Given the description of an element on the screen output the (x, y) to click on. 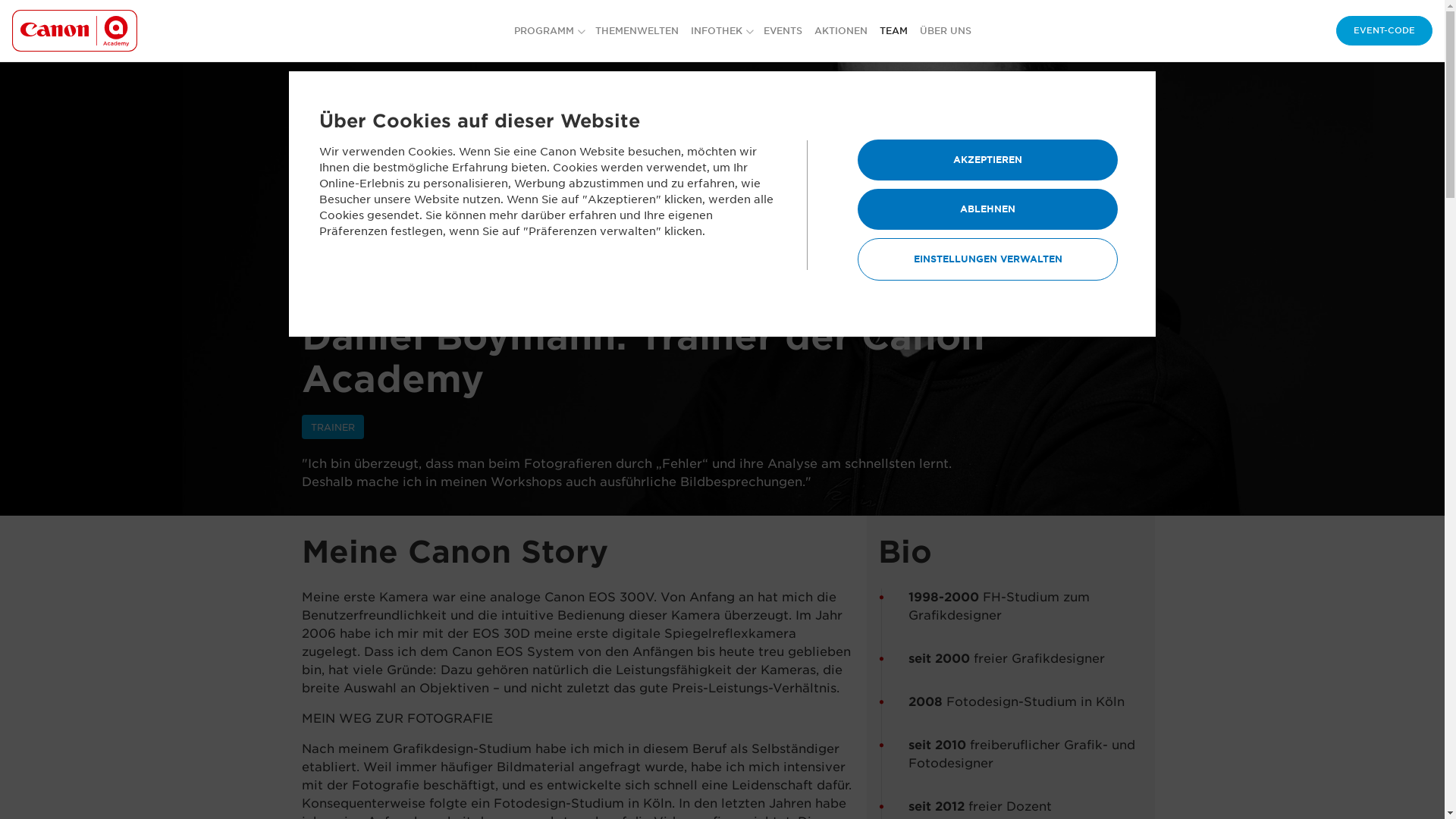
THEMENWELTEN Element type: text (636, 30)
AKTIONEN Element type: text (840, 30)
EVENTS Element type: text (782, 30)
EVENT-CODE Element type: text (1384, 30)
INFOTHEK Element type: text (720, 30)
PROGRAMM Element type: text (548, 30)
TEAM Element type: text (893, 30)
EINSTELLUNGEN VERWALTEN Element type: text (987, 259)
AKZEPTIEREN Element type: text (987, 159)
ABLEHNEN Element type: text (987, 208)
